Given the description of an element on the screen output the (x, y) to click on. 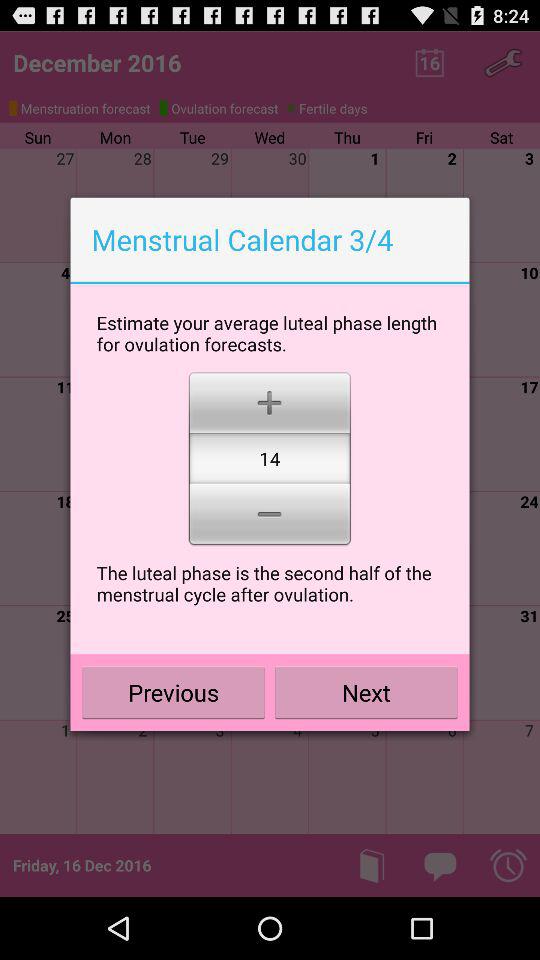
choose the icon below the luteal phase app (173, 692)
